Given the description of an element on the screen output the (x, y) to click on. 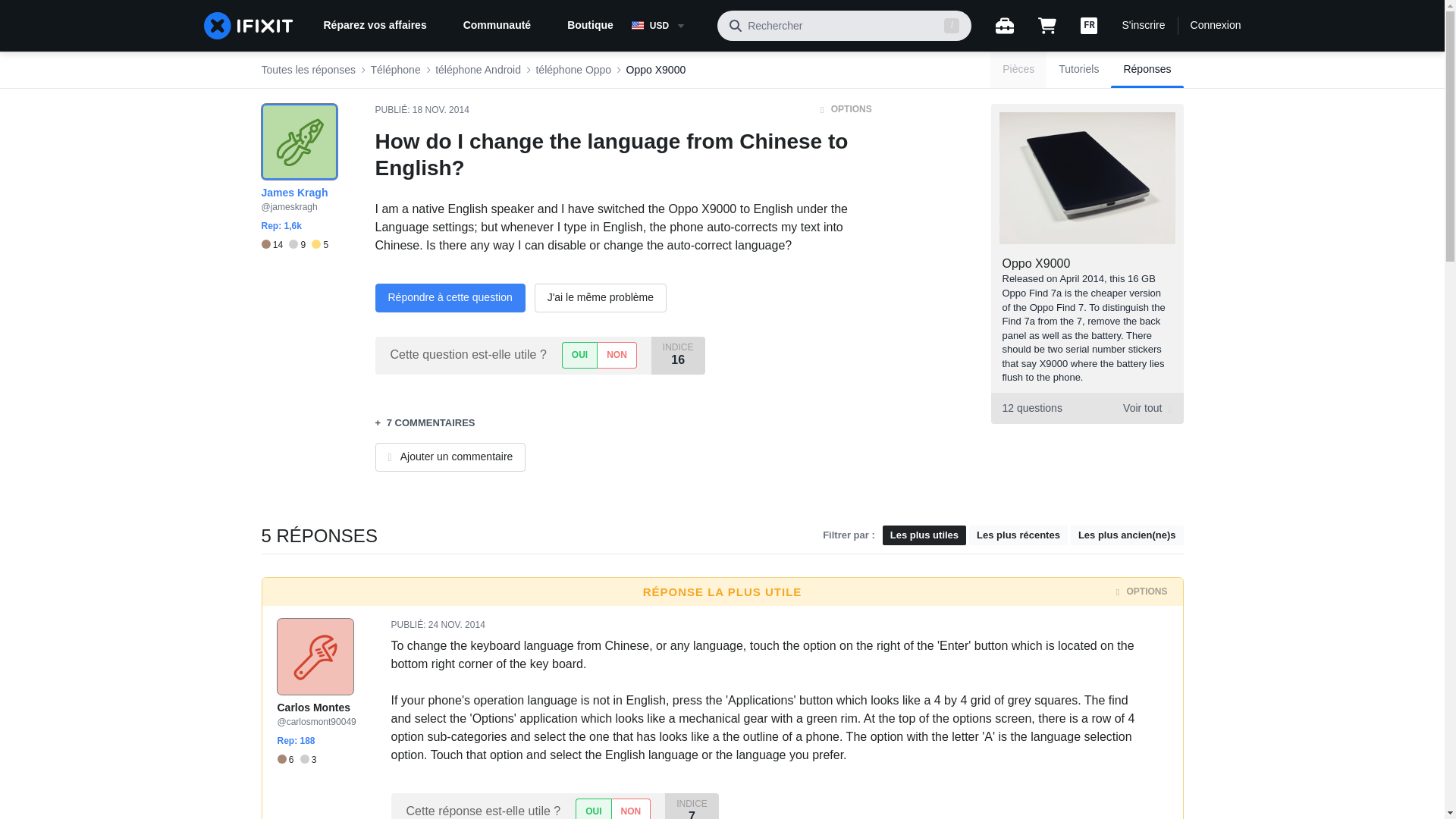
Tutoriels (1078, 69)
Oppo X9000 (655, 69)
14 badges Bronze (274, 245)
Connexion (1216, 25)
USD (667, 25)
3 badges Argent (308, 759)
Oppo X9000 (1036, 263)
S'inscrire (1142, 25)
6 badges Bronze (288, 759)
9 badges Argent (299, 245)
14 9 5 (294, 245)
Mon, 24 Nov 2014 14:33:38 -0700 (456, 624)
5 badges Or (320, 245)
Tue, 18 Nov 2014 11:18:52 -0700 (1086, 408)
